Given the description of an element on the screen output the (x, y) to click on. 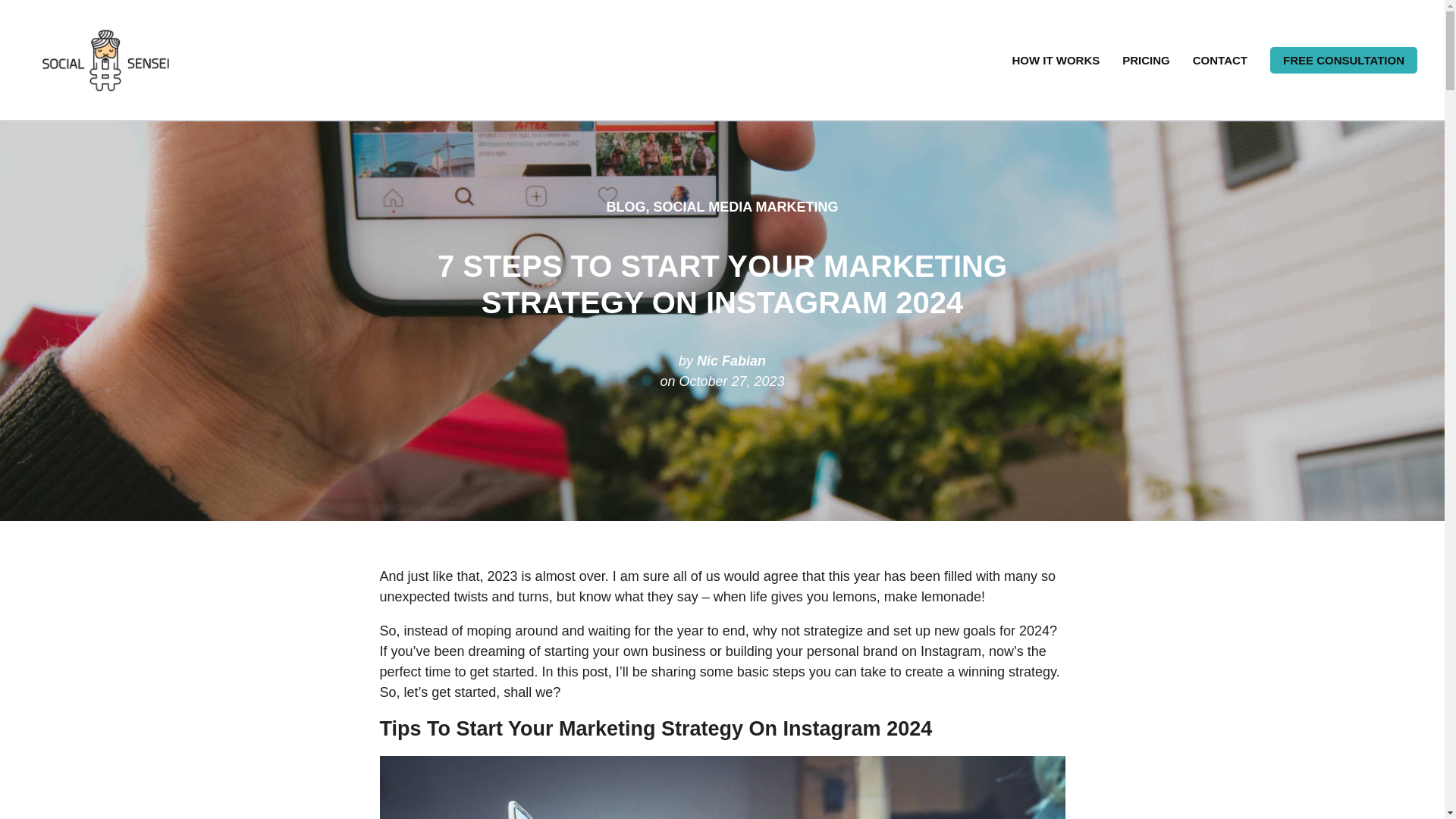
PRICING (1145, 60)
SOCIAL MEDIA MARKETING (745, 206)
BLOG (625, 206)
HOW IT WORKS (1055, 60)
CONTACT (1219, 60)
FREE CONSULTATION (1342, 59)
Social Sensei (63, 113)
